Given the description of an element on the screen output the (x, y) to click on. 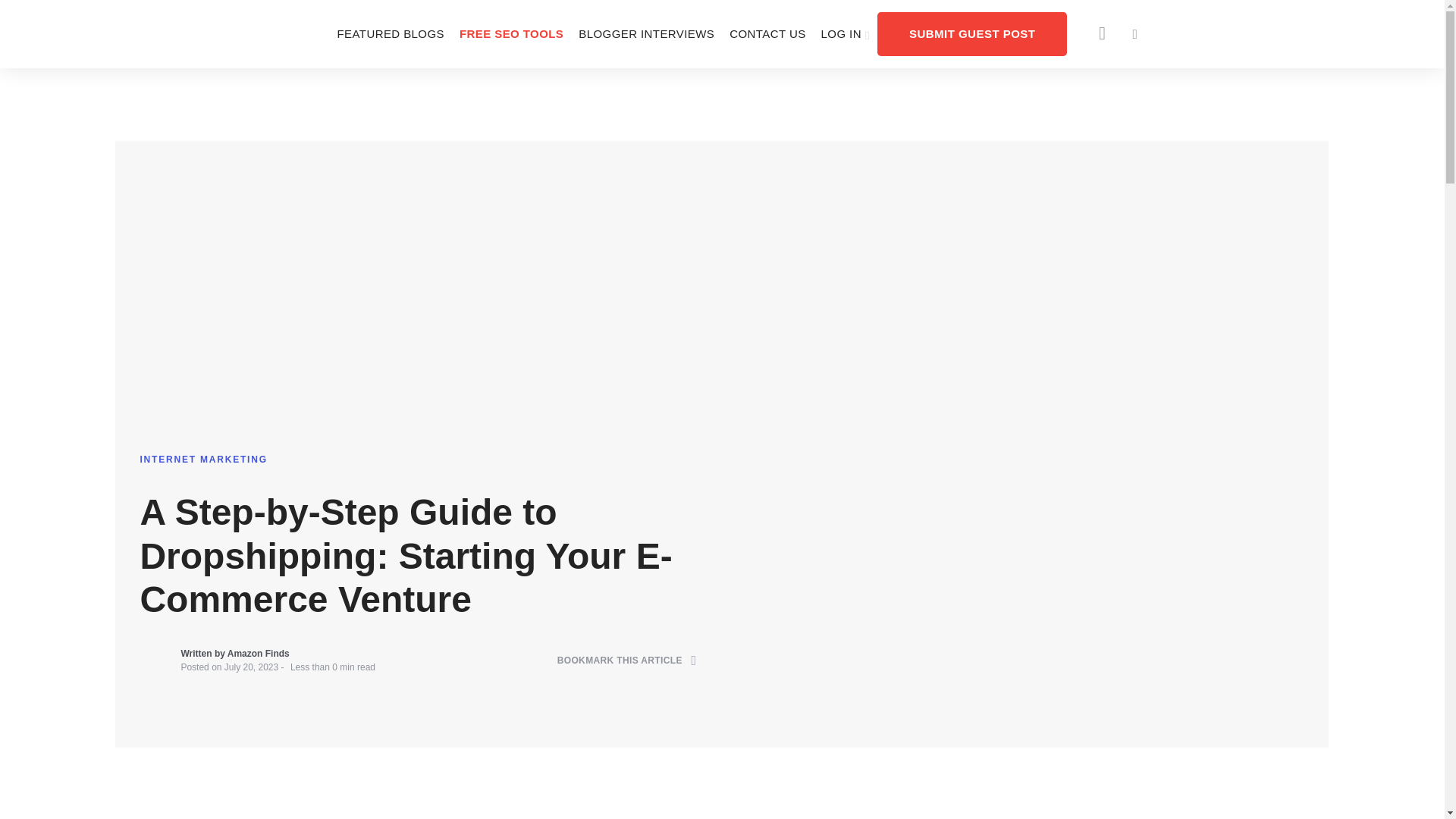
July 20, 2023 (251, 666)
FREE SEO TOOLS (510, 33)
FREE SEO TOOLS (510, 33)
CONTACT US (767, 33)
SUBMIT GUEST POST (972, 33)
BOOKMARK THIS ARTICLE (627, 660)
BLOGGER INTERVIEWS (646, 33)
CONTACT US (767, 33)
SUBMIT GUEST POST (972, 33)
FEATURED BLOGS (390, 33)
